Given the description of an element on the screen output the (x, y) to click on. 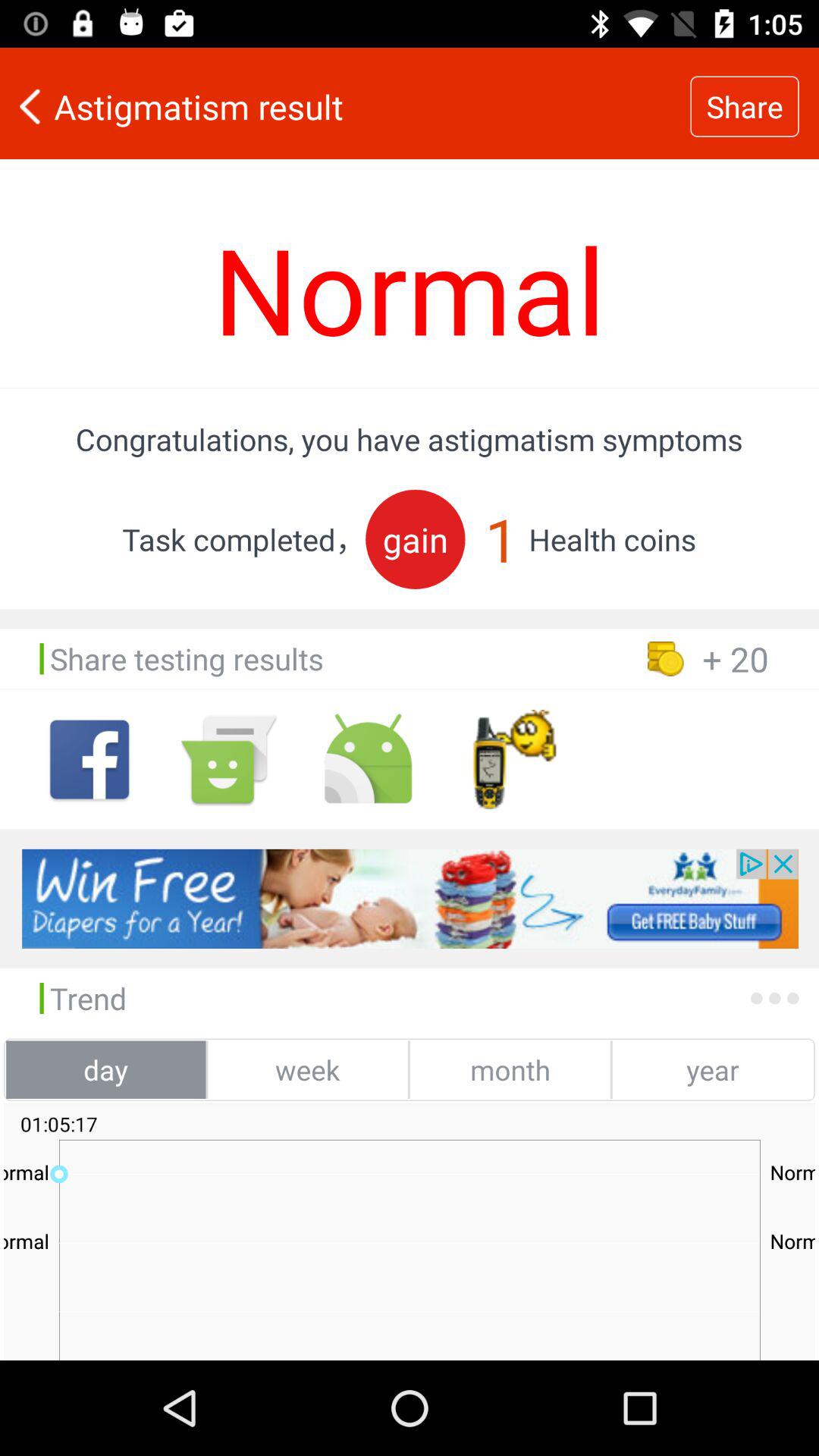
tap icon below congratulations you have item (415, 539)
